Given the description of an element on the screen output the (x, y) to click on. 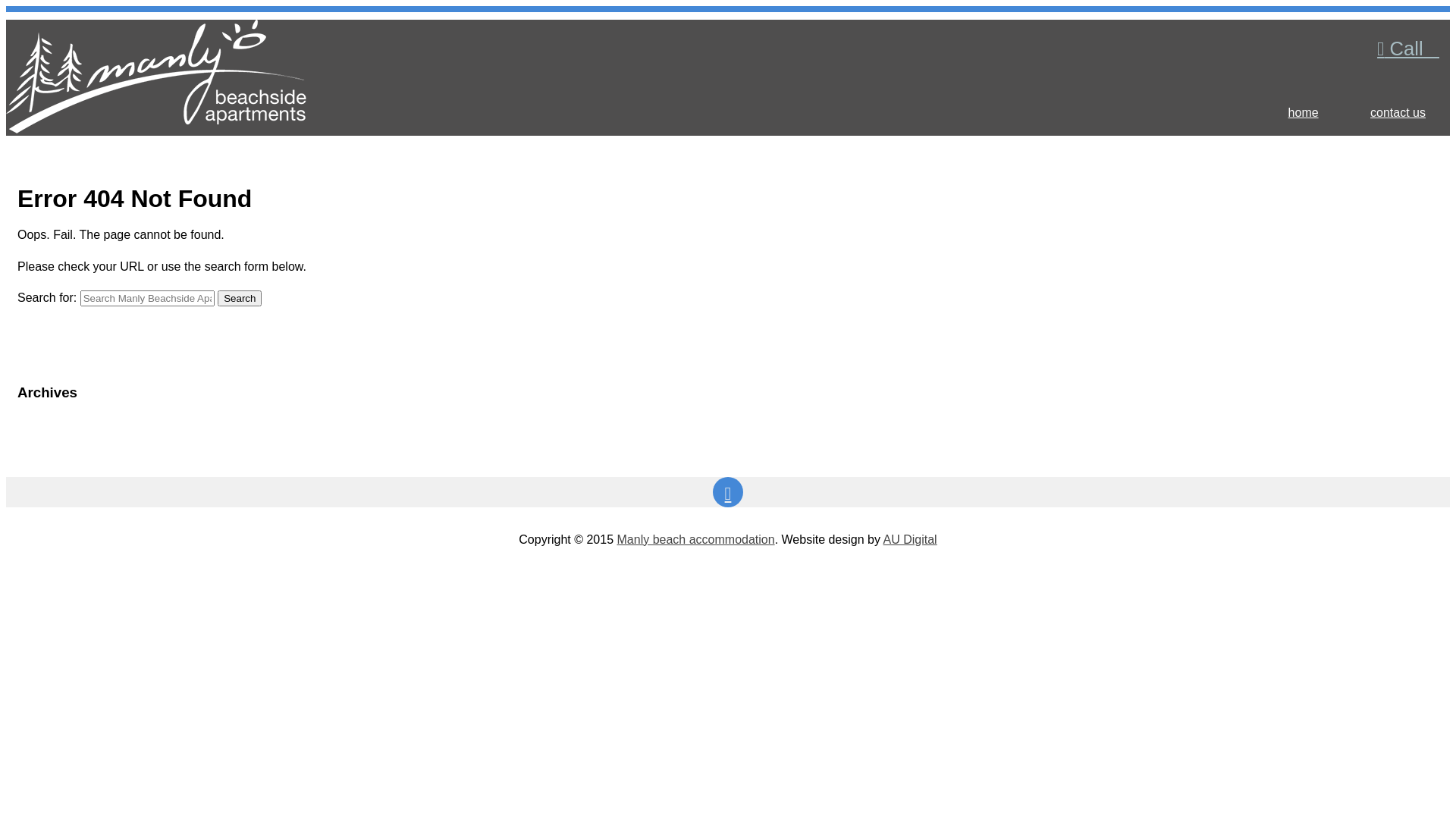
Manly Budget Holiday Accommodation Element type: hover (156, 124)
Search Element type: text (239, 298)
home Element type: text (1303, 112)
Call    Element type: text (1408, 48)
contact us Element type: text (1397, 112)
Manly beach accommodation Element type: text (696, 539)
AU Digital Element type: text (910, 539)
